Given the description of an element on the screen output the (x, y) to click on. 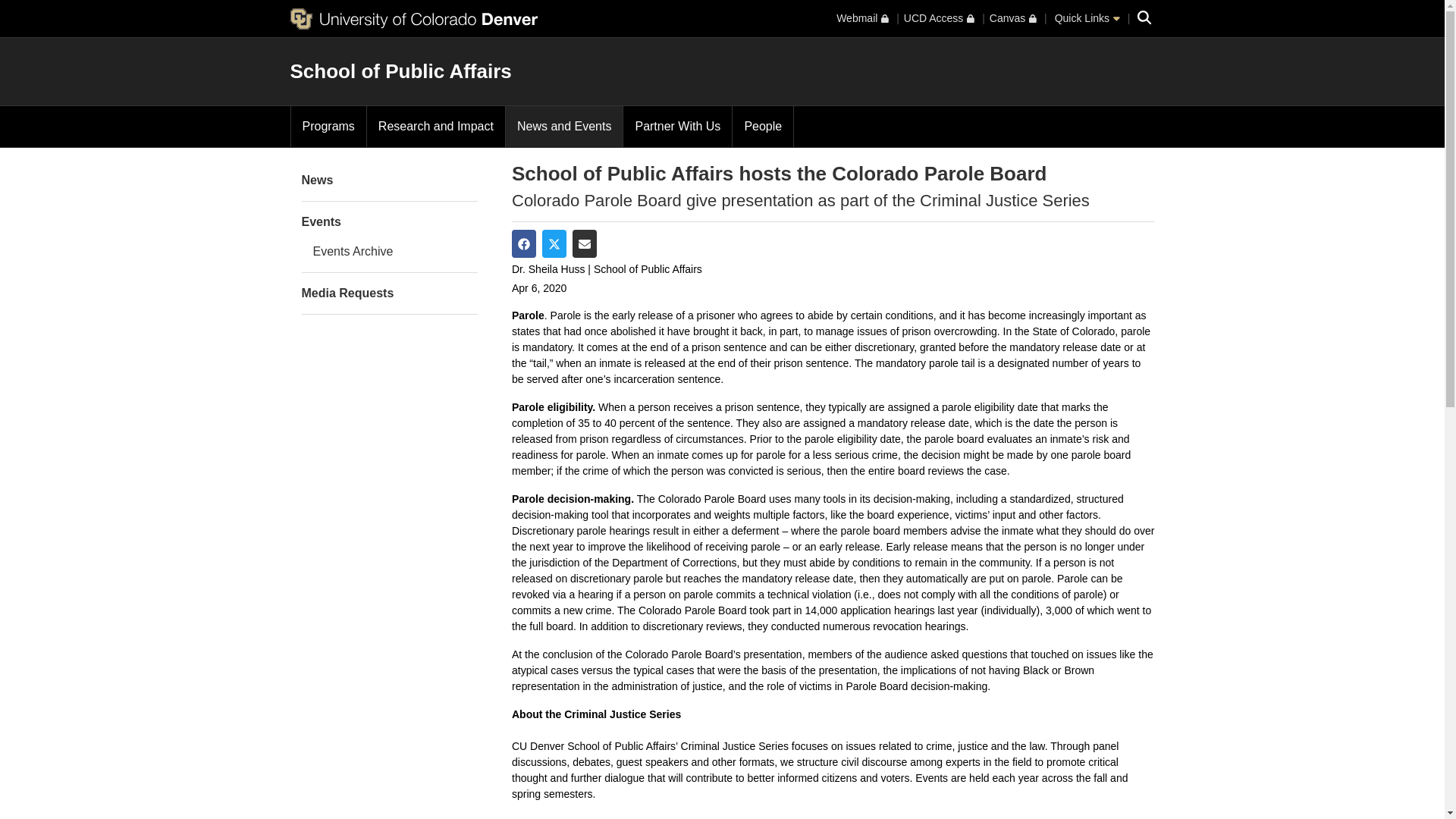
Canvas (1013, 18)
Programs (328, 126)
News and Events (564, 126)
Partner With Us (677, 126)
School of Public Affairs (400, 70)
People (762, 126)
UCD Access (939, 18)
Quick Links (1086, 18)
Research and Impact (435, 126)
Webmail (861, 18)
